Given the description of an element on the screen output the (x, y) to click on. 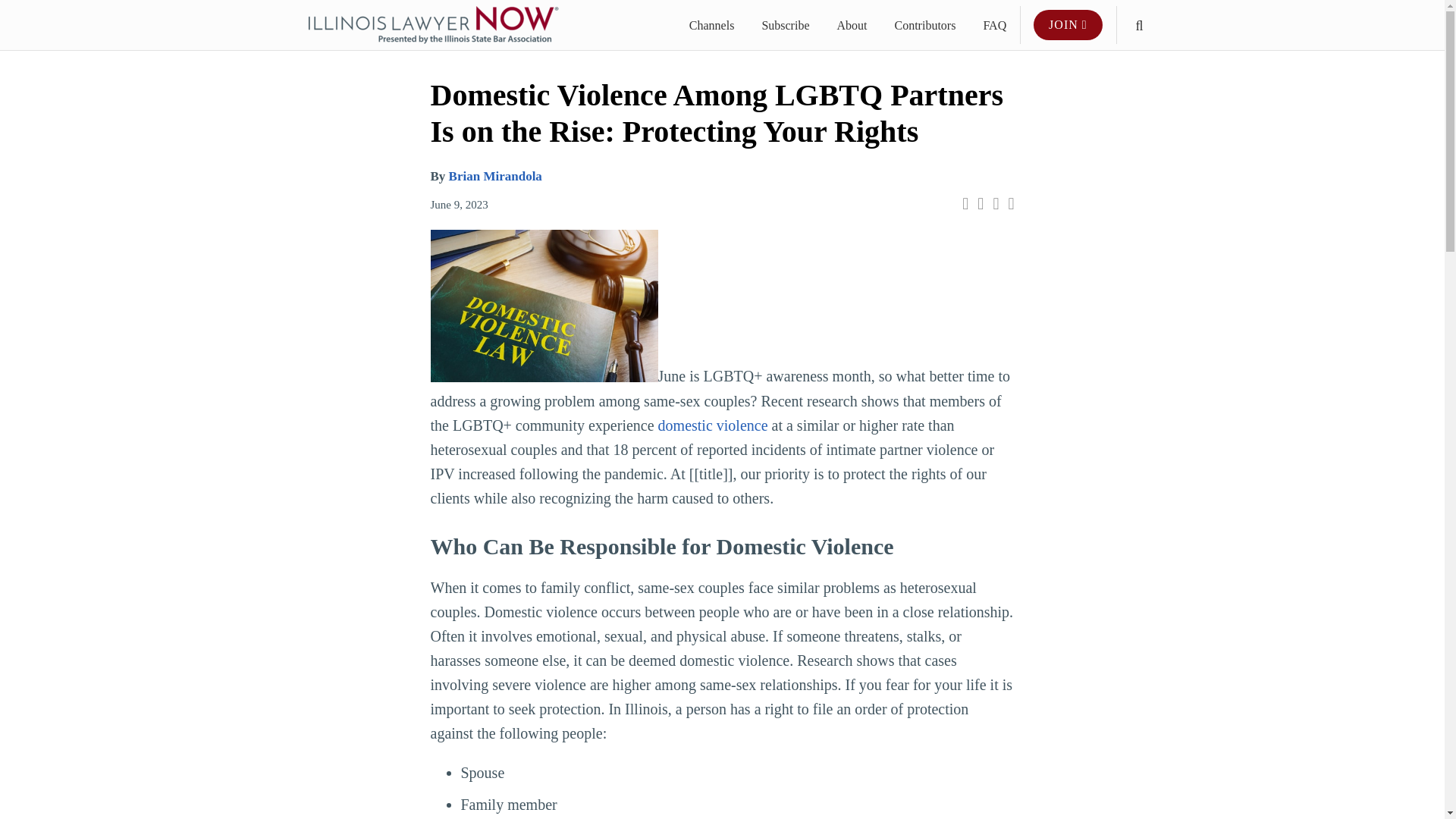
Subscribe (785, 25)
JOIN (1067, 24)
About (850, 25)
domestic violence (713, 425)
Contributors (924, 25)
FAQ (994, 25)
Channels (711, 25)
Brian Mirandola (494, 175)
